Given the description of an element on the screen output the (x, y) to click on. 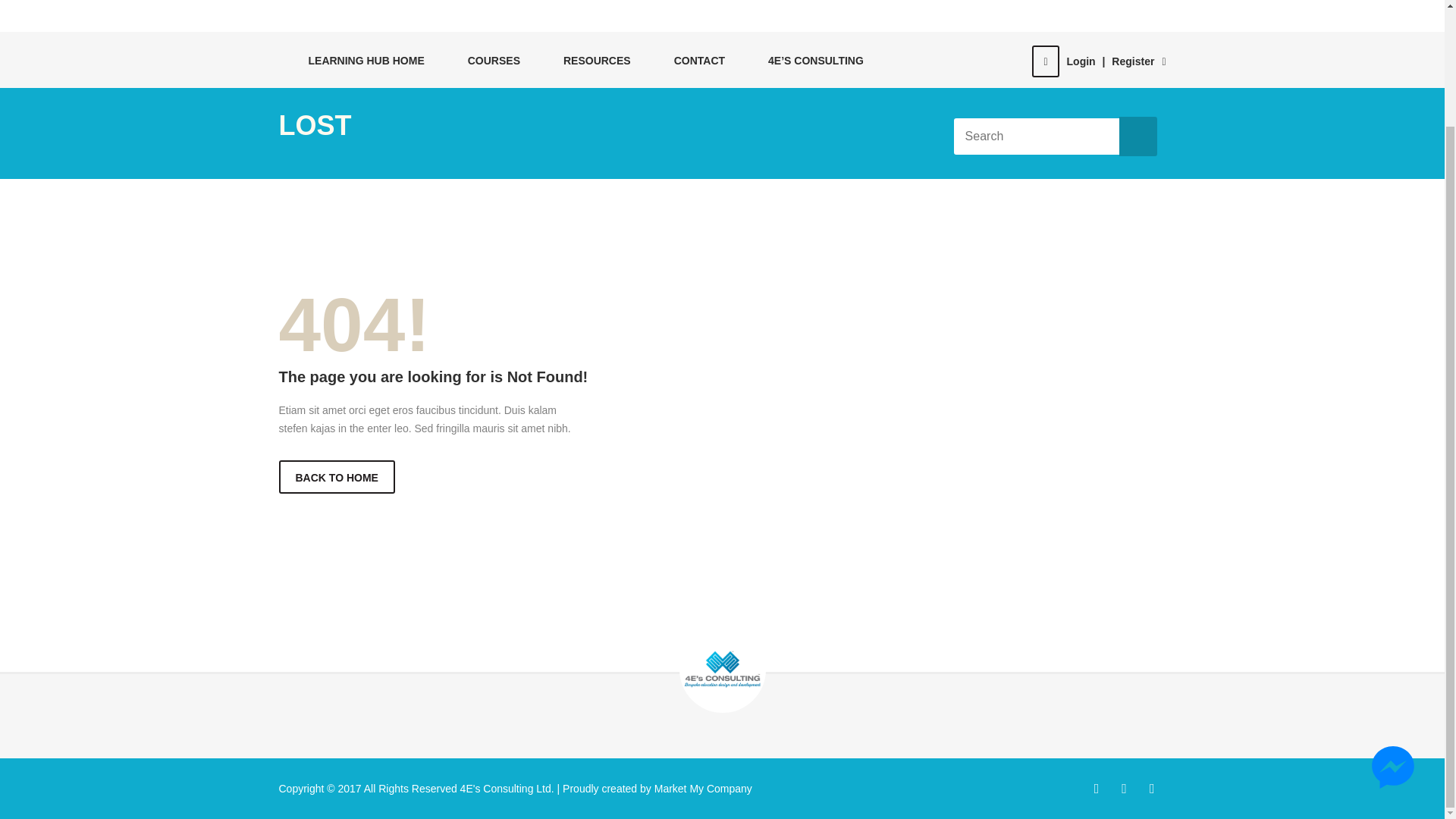
LEARNING HUB HOME (358, 59)
 Market My Company (701, 787)
COURSES (486, 59)
BACK TO HOME (336, 476)
RESOURCES (589, 59)
Footer Logo (722, 669)
CONTACT (691, 59)
